Given the description of an element on the screen output the (x, y) to click on. 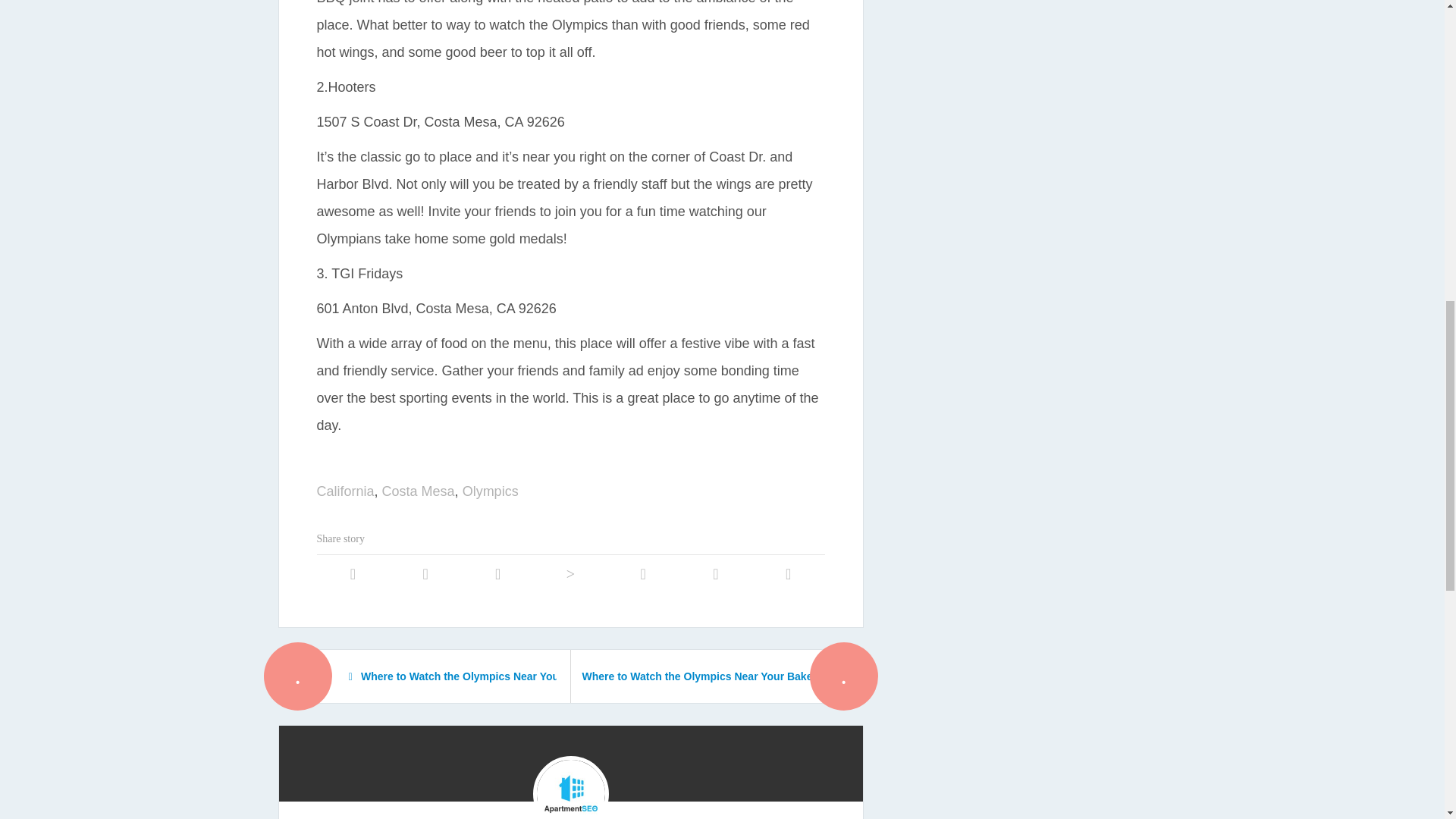
Costa Mesa (417, 491)
California (345, 491)
    Where to Watch the Olympics Near Your San Pedro, CA Home (433, 676)
Olympics (490, 491)
